Given the description of an element on the screen output the (x, y) to click on. 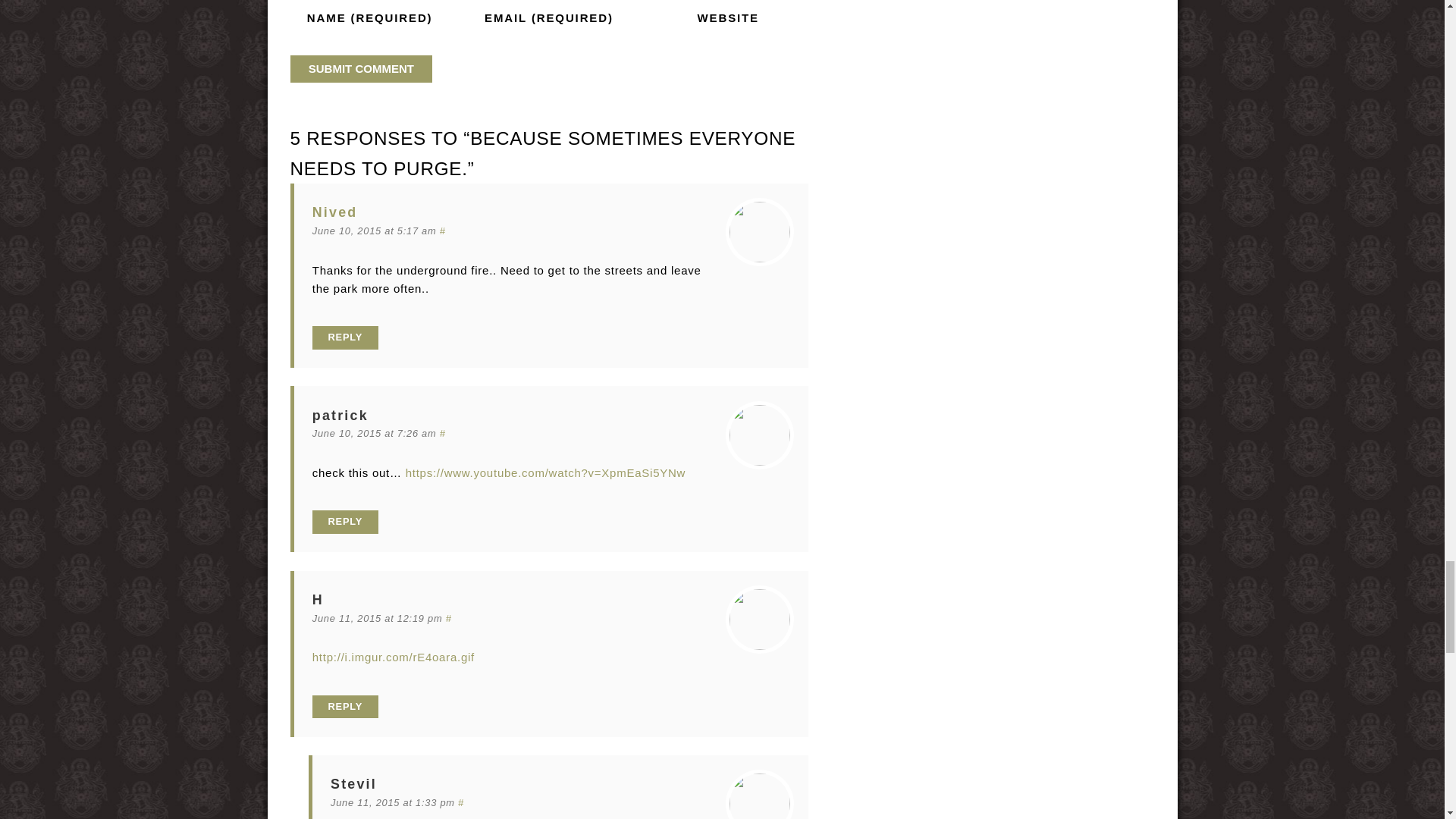
Submit Comment (360, 68)
